Given the description of an element on the screen output the (x, y) to click on. 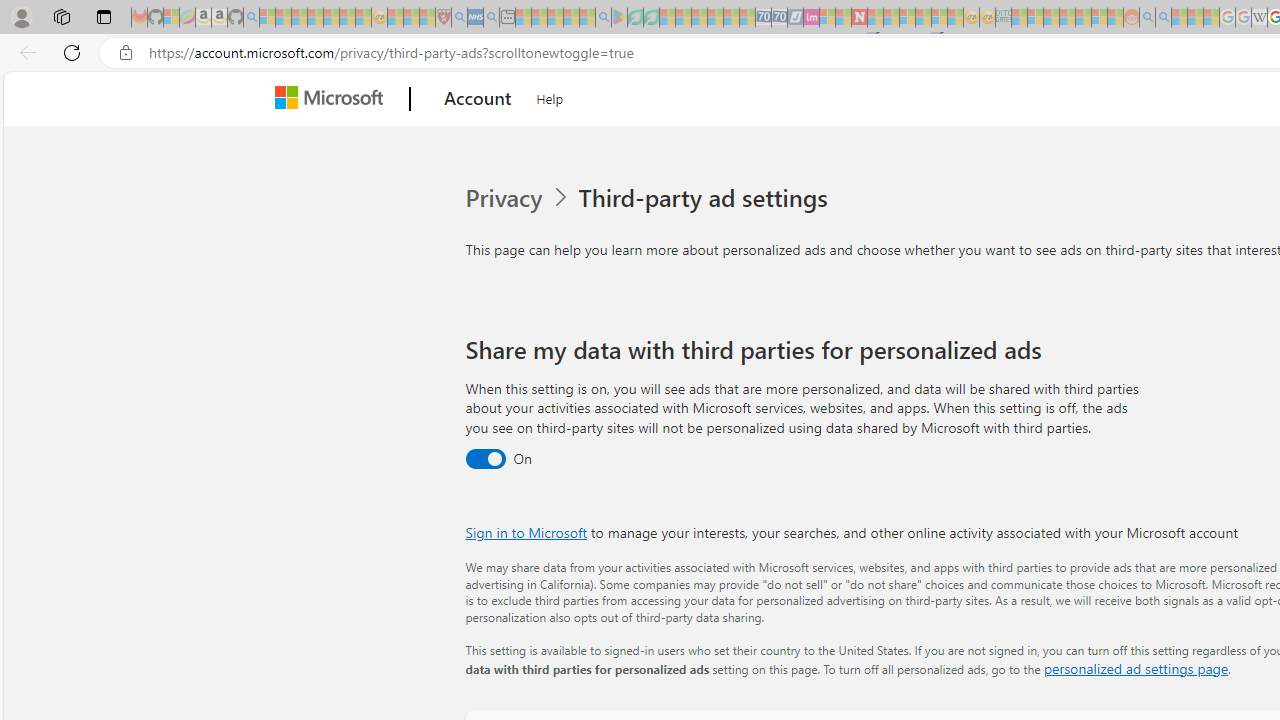
Third-party ad settings (706, 197)
